Given the description of an element on the screen output the (x, y) to click on. 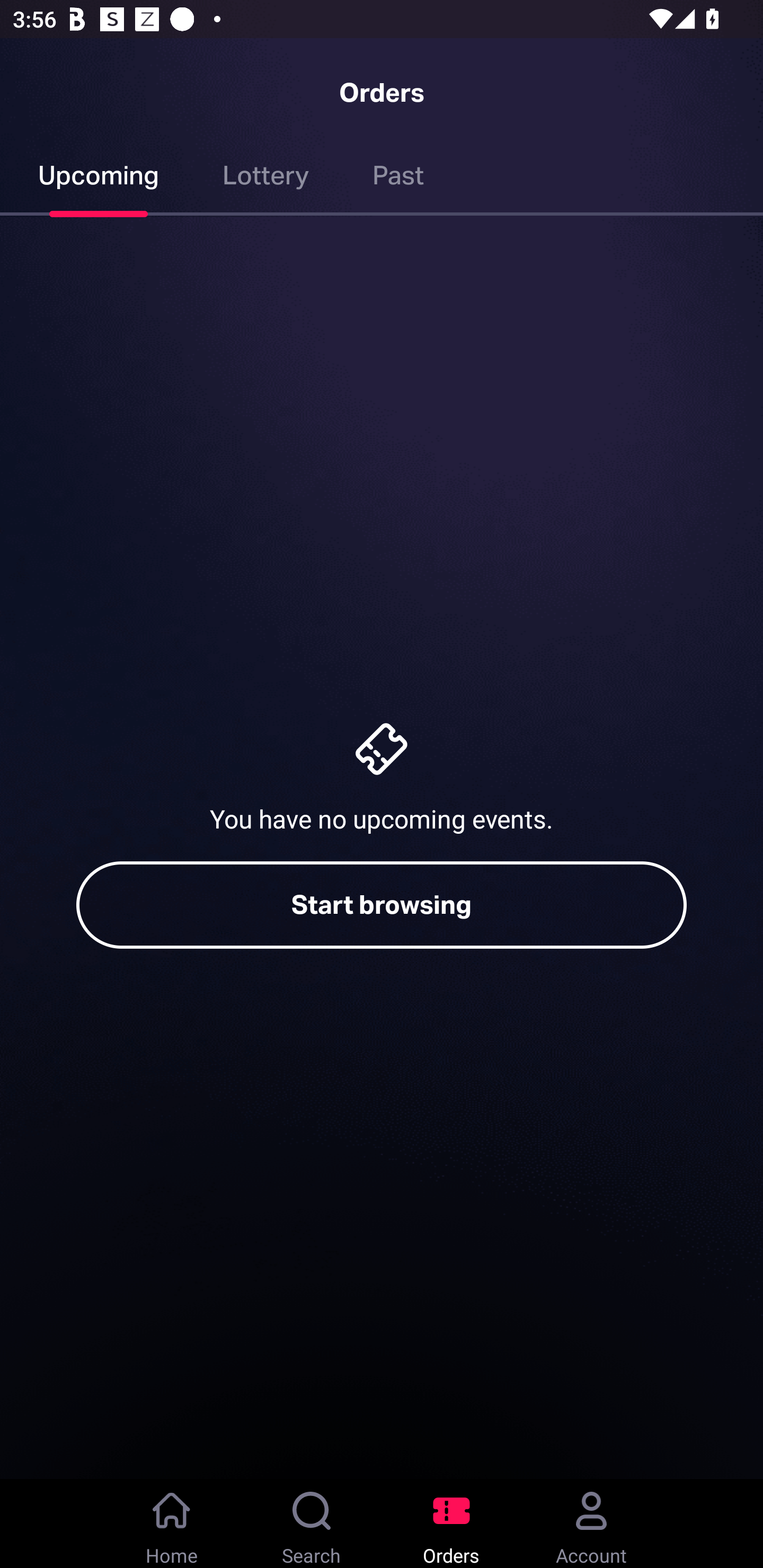
Lottery (265, 179)
Past (398, 179)
Start browsing (381, 904)
Home (171, 1523)
Search (311, 1523)
Account (591, 1523)
